Given the description of an element on the screen output the (x, y) to click on. 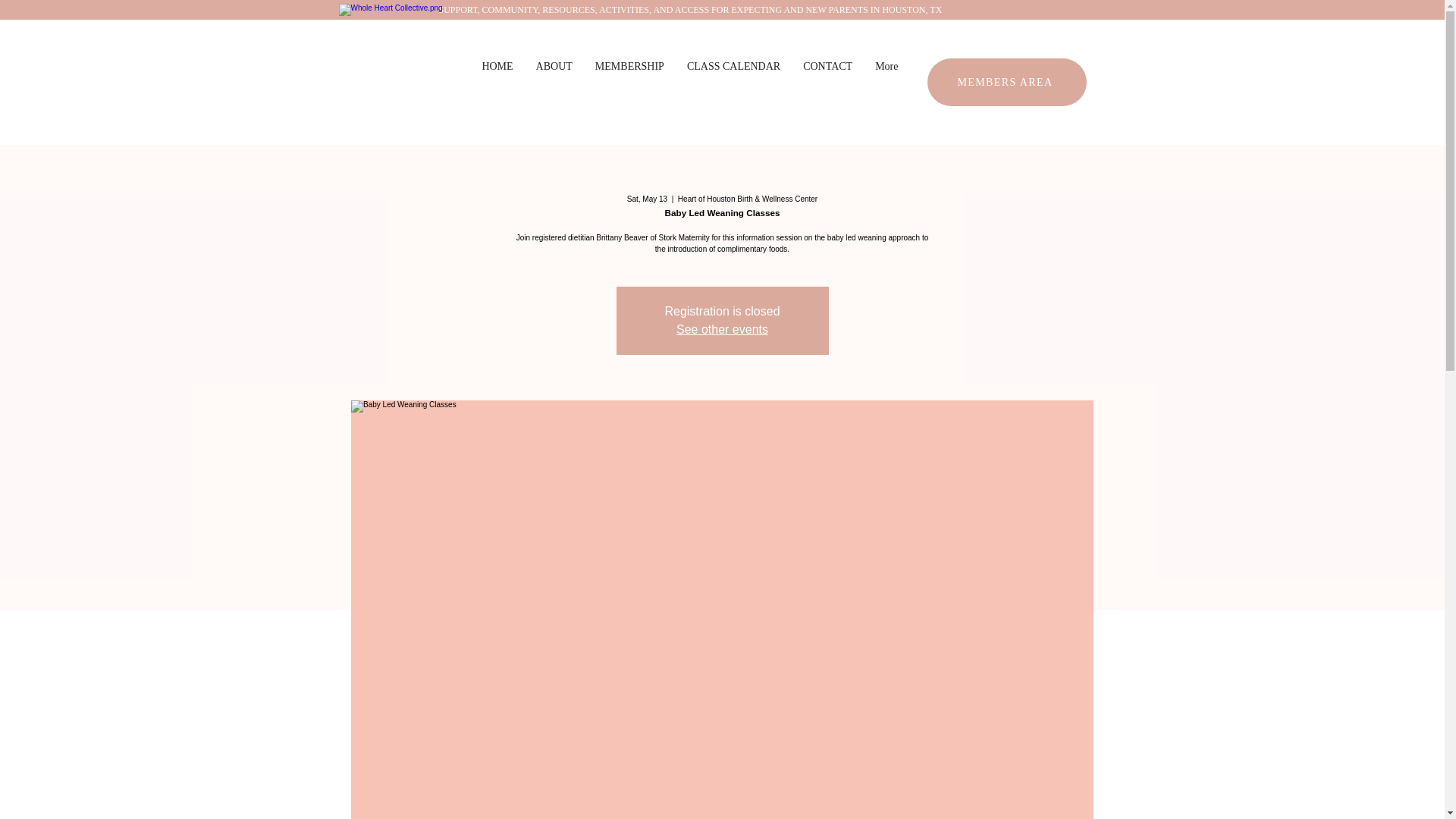
CLASS CALENDAR (733, 82)
See other events (722, 328)
MEMBERS AREA (1006, 82)
ABOUT (553, 82)
CONTACT (827, 82)
MEMBERSHIP (629, 82)
HOME (497, 82)
